Given the description of an element on the screen output the (x, y) to click on. 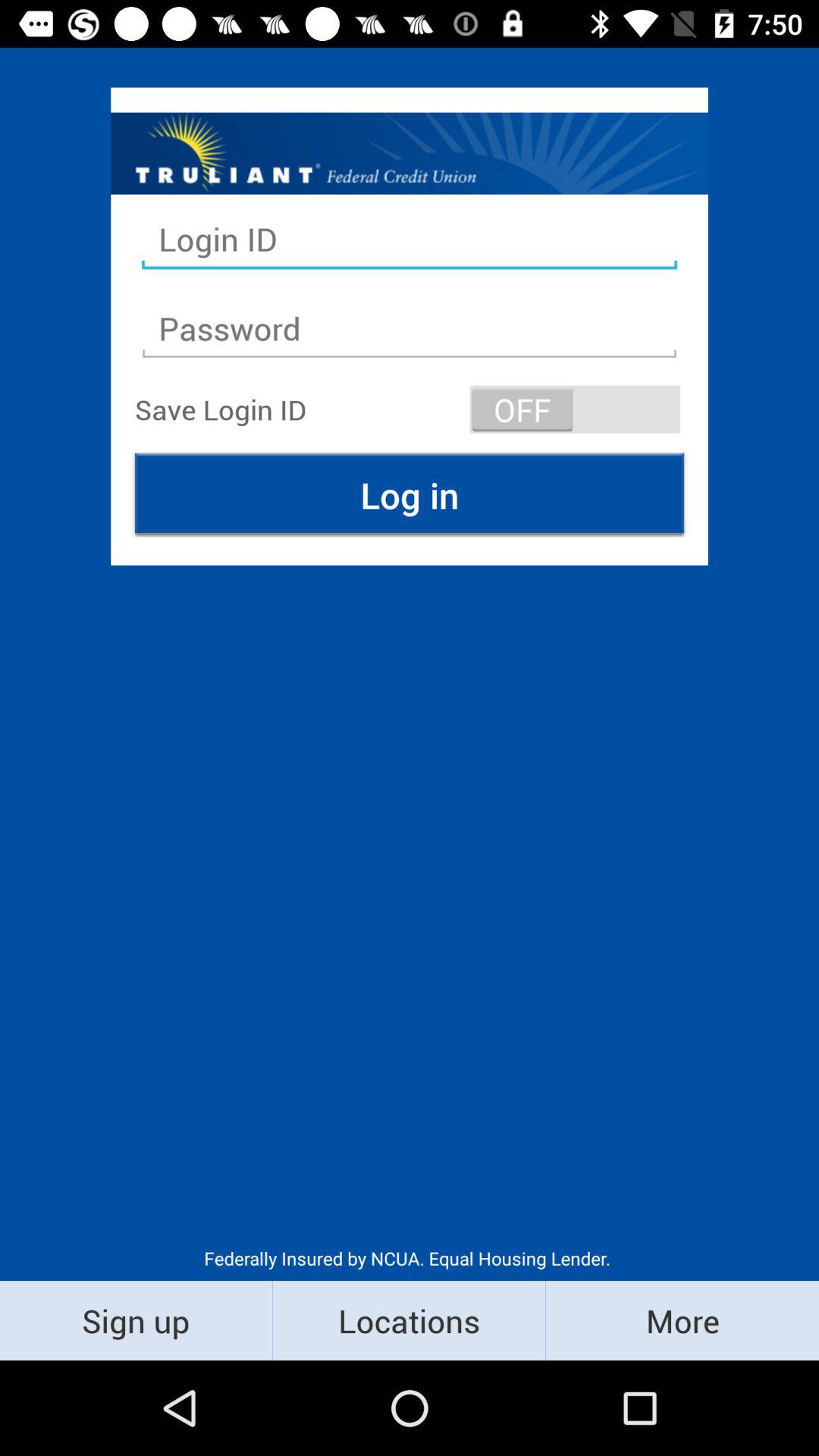
select icon at the top right corner (574, 409)
